Given the description of an element on the screen output the (x, y) to click on. 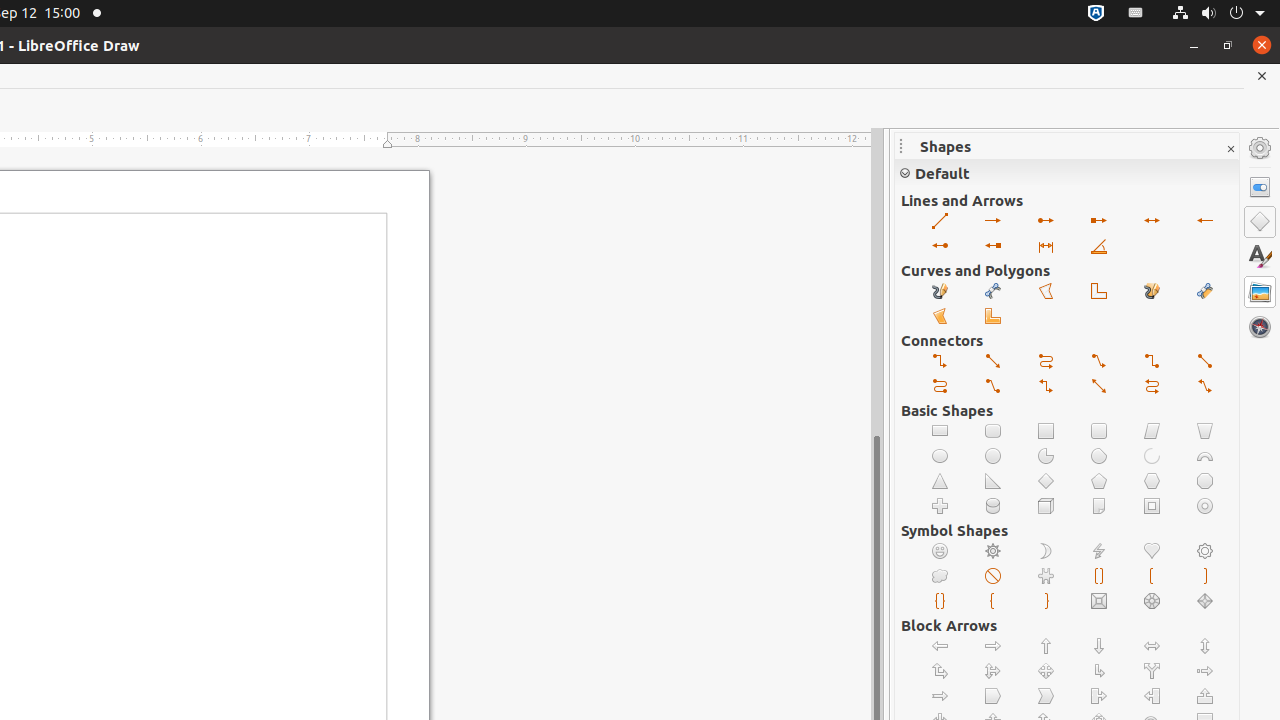
Up Arrow Callout Element type: list-item (1205, 696)
Right Arrow Element type: list-item (993, 646)
Cross Element type: list-item (940, 506)
Line with Circle/Arrow Element type: list-item (1046, 221)
Line with Arrows Element type: list-item (1152, 221)
